Given the description of an element on the screen output the (x, y) to click on. 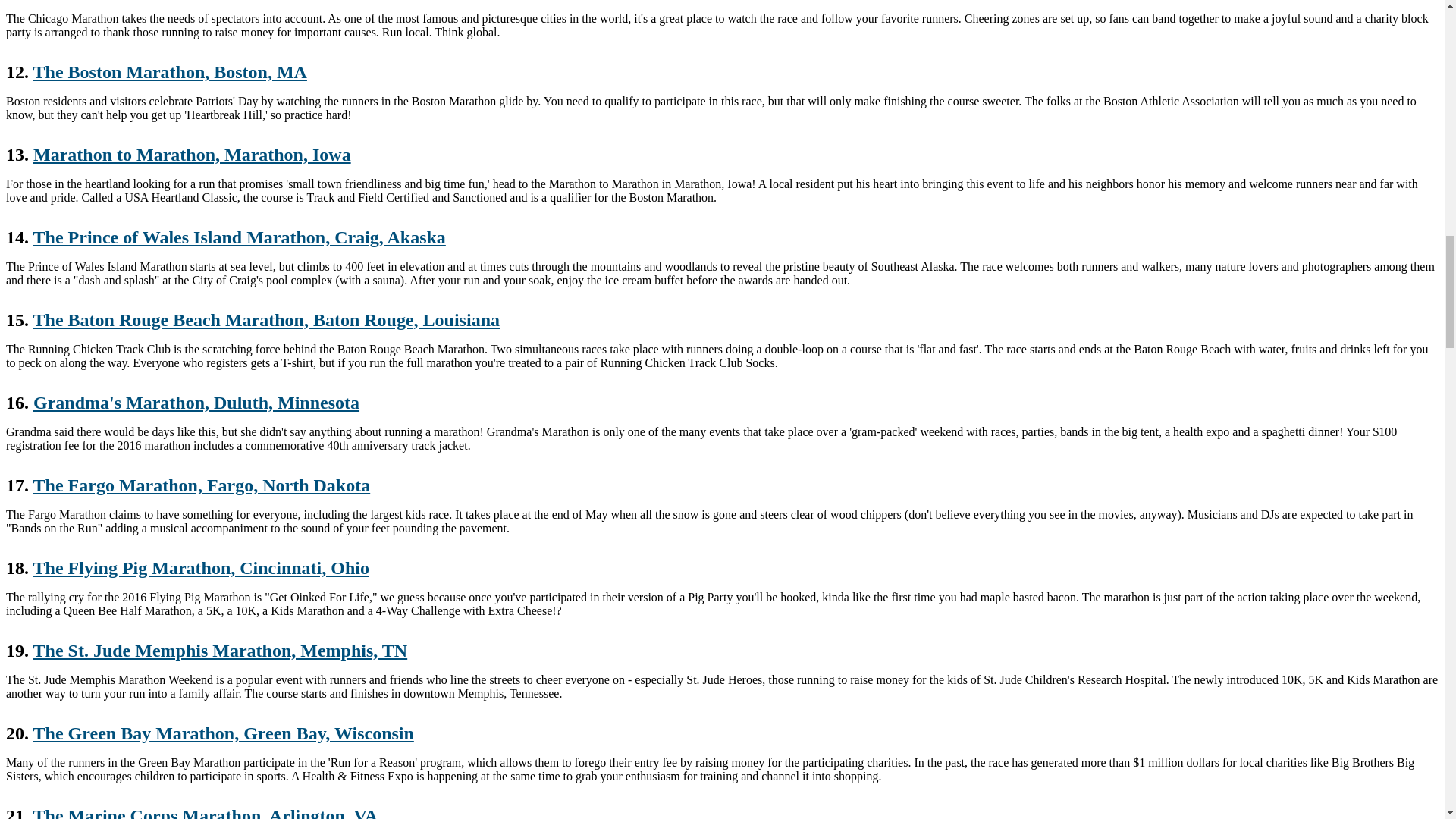
The Boston Marathon, Boston, MA (170, 71)
The Marine Corps Marathon, Arlington, VA (205, 812)
The Prince of Wales Island Marathon, Craig, Akaska (239, 237)
The Baton Rouge Beach Marathon, Baton Rouge, Louisiana (266, 320)
The Green Bay Marathon, Green Bay, Wisconsin (223, 732)
The St. Jude Memphis Marathon, Memphis, TN (220, 650)
The Flying Pig Marathon, Cincinnati, Ohio (201, 567)
Grandma's Marathon, Duluth, Minnesota (196, 402)
Marathon to Marathon, Marathon, Iowa (191, 154)
The Fargo Marathon, Fargo, North Dakota (202, 485)
